Given the description of an element on the screen output the (x, y) to click on. 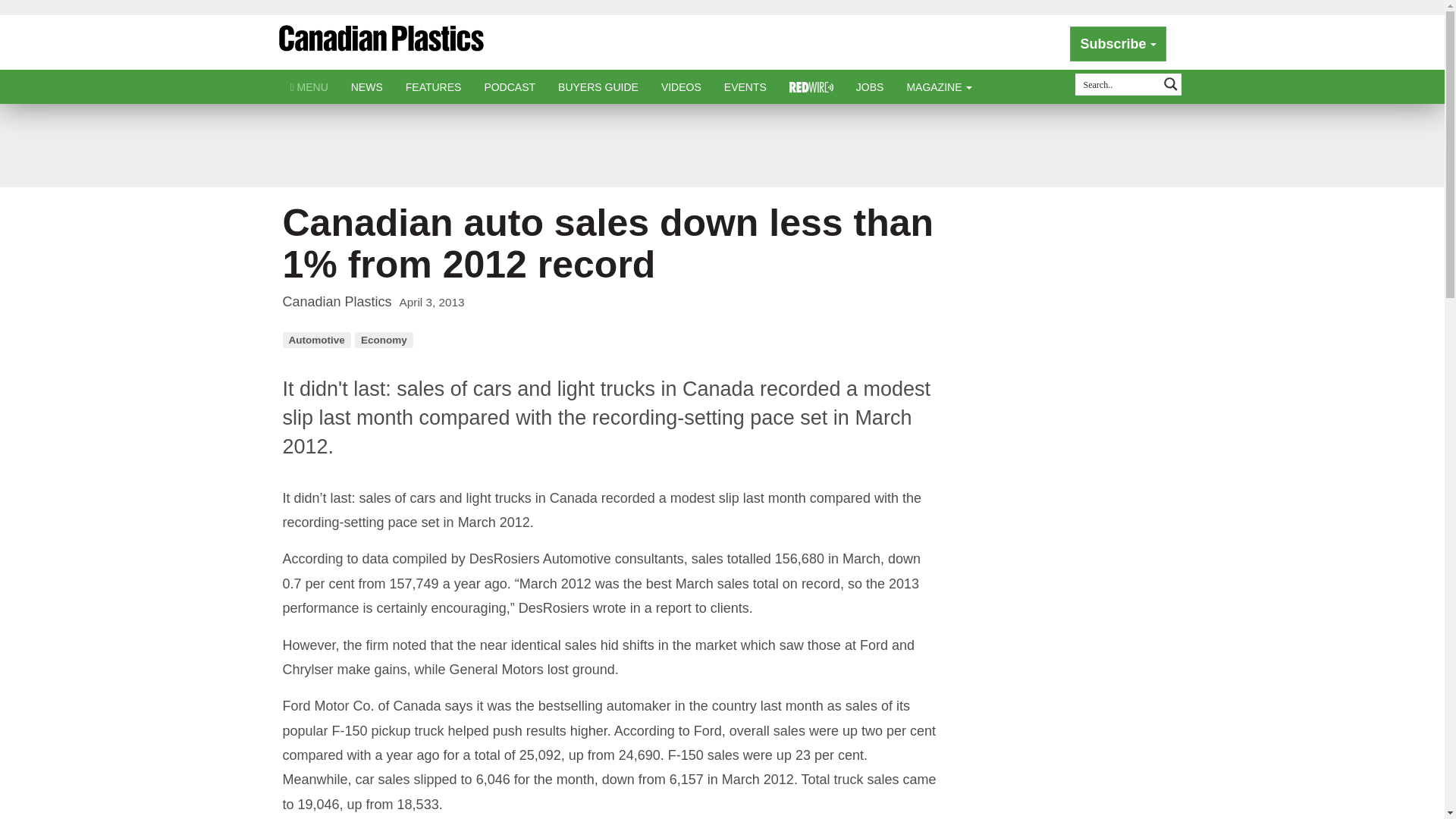
Canadian Plastics (381, 44)
PODCAST (509, 86)
EVENTS (745, 86)
NEWS (366, 86)
MENU (309, 86)
3rd party ad content (721, 145)
MAGAZINE (939, 86)
VIDEOS (681, 86)
BUYERS GUIDE (598, 86)
Subscribe (1118, 43)
